Given the description of an element on the screen output the (x, y) to click on. 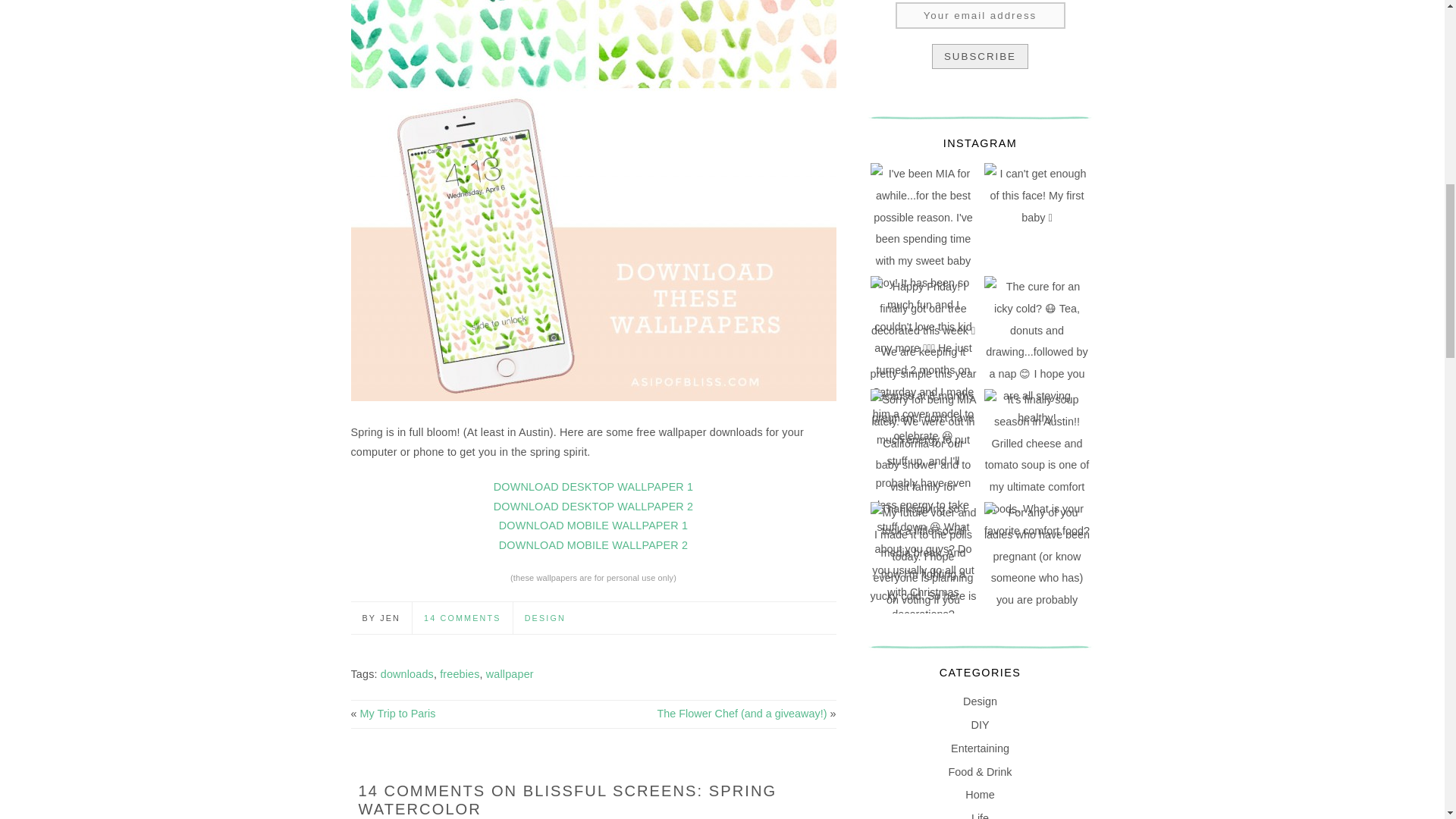
DOWNLOAD MOBILE WALLPAPER 2 (593, 544)
Subscribe (979, 56)
wallpaper (510, 674)
DOWNLOAD MOBILE WALLPAPER 1 (593, 525)
DOWNLOAD DESKTOP WALLPAPER 1 (593, 486)
My Trip to Paris (397, 713)
DOWNLOAD MOBILE WALLPAPER 1 (593, 525)
DOWNLOAD DESKTOP WALLPAPER 1 (593, 486)
14 COMMENTS (461, 617)
DESIGN (545, 617)
